Given the description of an element on the screen output the (x, y) to click on. 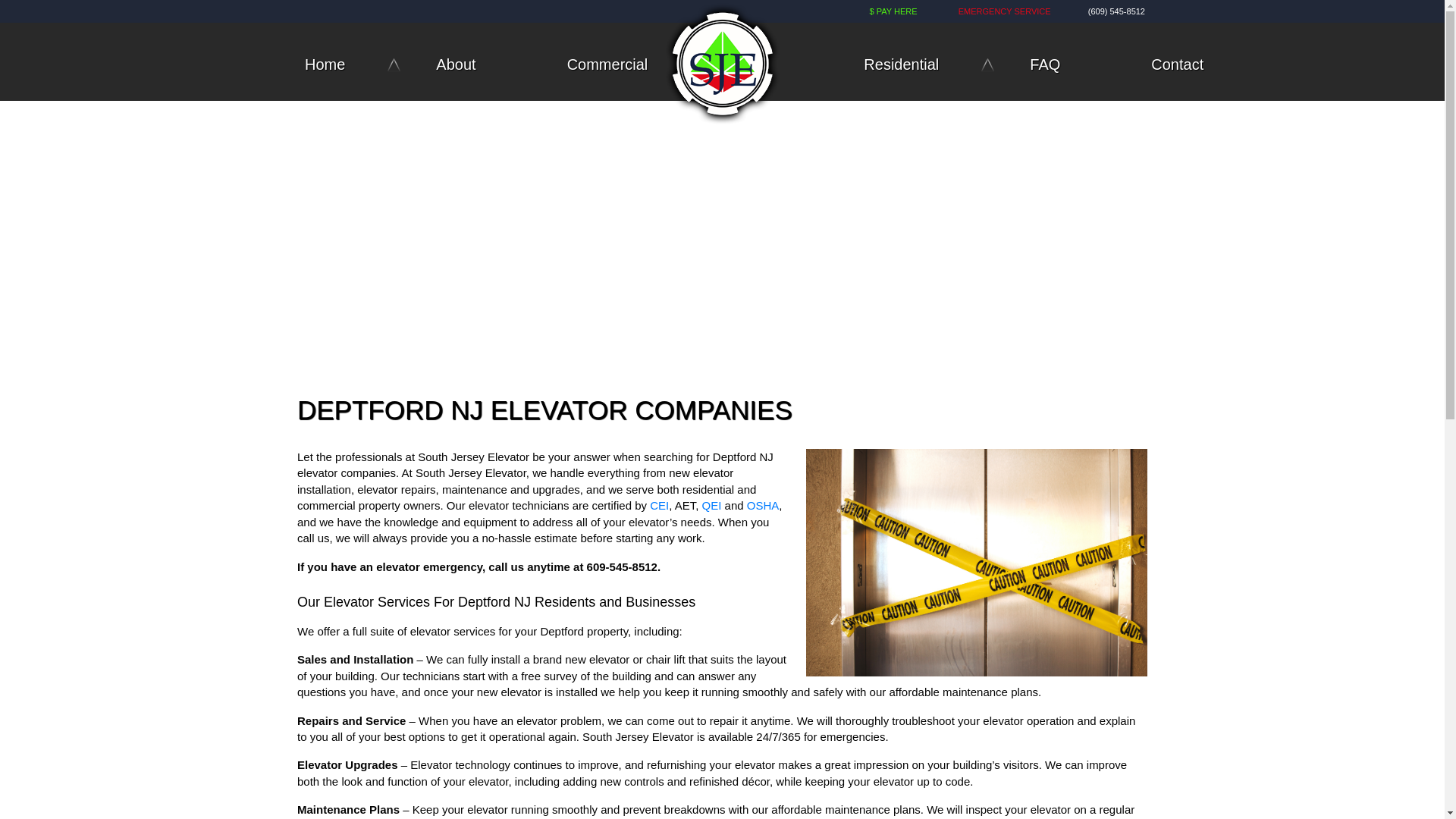
FAQ (1040, 65)
Commercial (604, 65)
Residential (896, 65)
Home (336, 65)
QEI (711, 504)
Contact (1173, 65)
CEI (658, 504)
EMERGENCY SERVICE (1016, 10)
About (451, 65)
OSHA (762, 504)
